Given the description of an element on the screen output the (x, y) to click on. 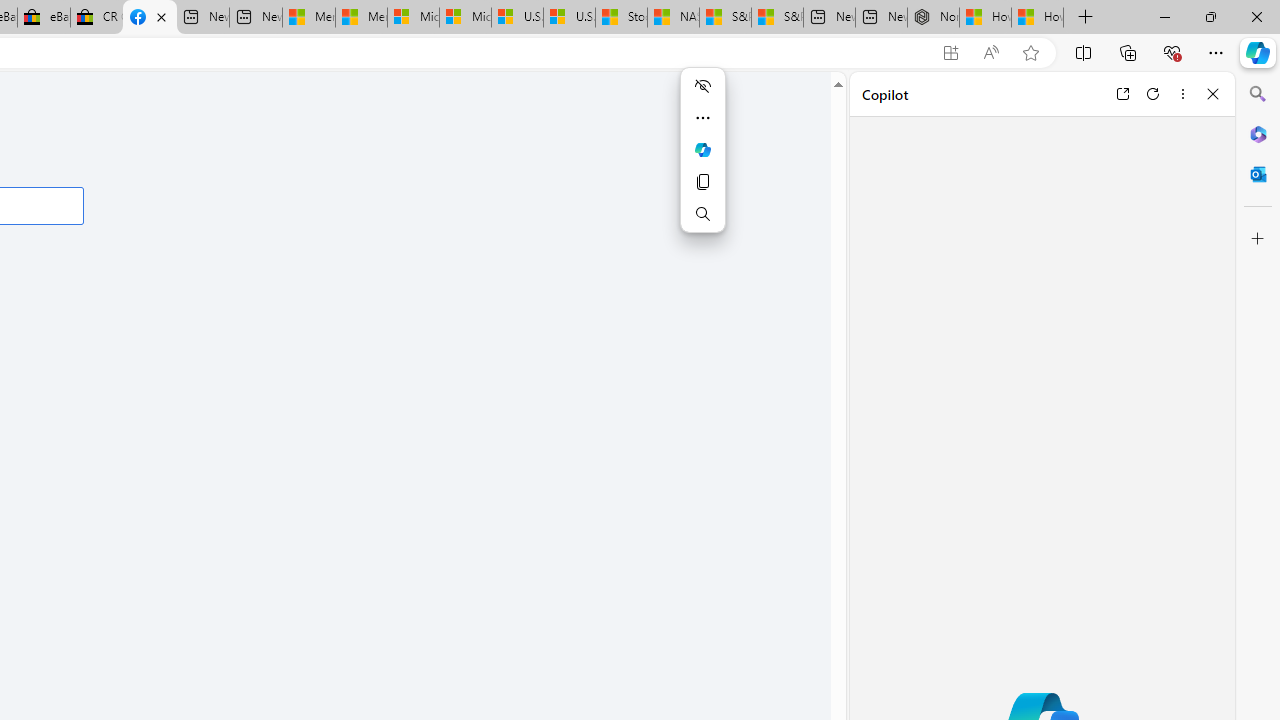
Open link in new tab (1122, 93)
Log into Facebook (150, 17)
Hide menu (702, 85)
Outlook (1258, 174)
App available. Install Facebook (950, 53)
